Given the description of an element on the screen output the (x, y) to click on. 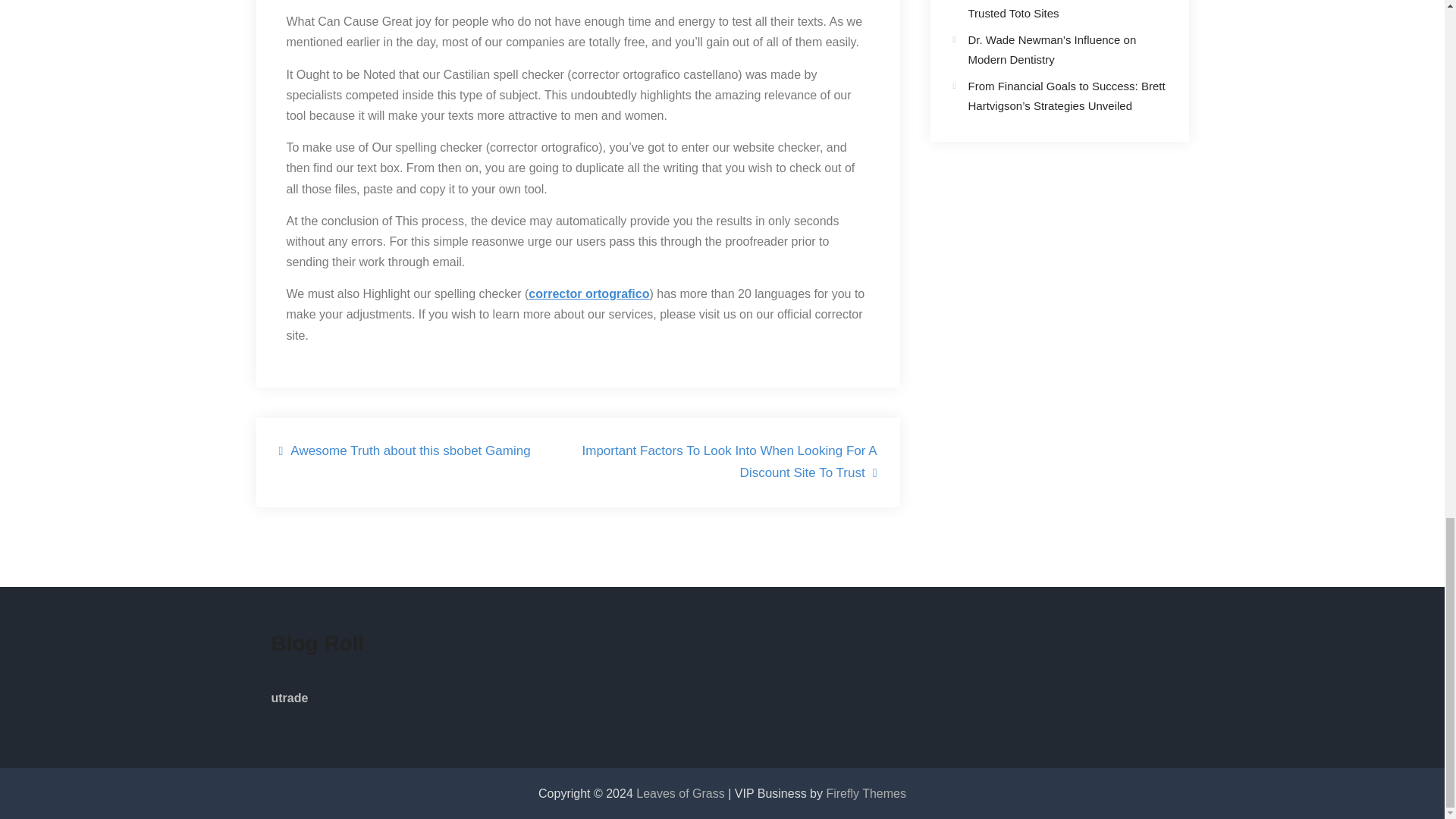
corrector ortografico (588, 293)
Leaves of Grass (682, 793)
utrade (289, 697)
Awesome Truth about this sbobet Gaming (405, 451)
Firefly Themes (865, 793)
Verified Integrity: Benefits of Selecting Trusted Toto Sites (1063, 9)
